Given the description of an element on the screen output the (x, y) to click on. 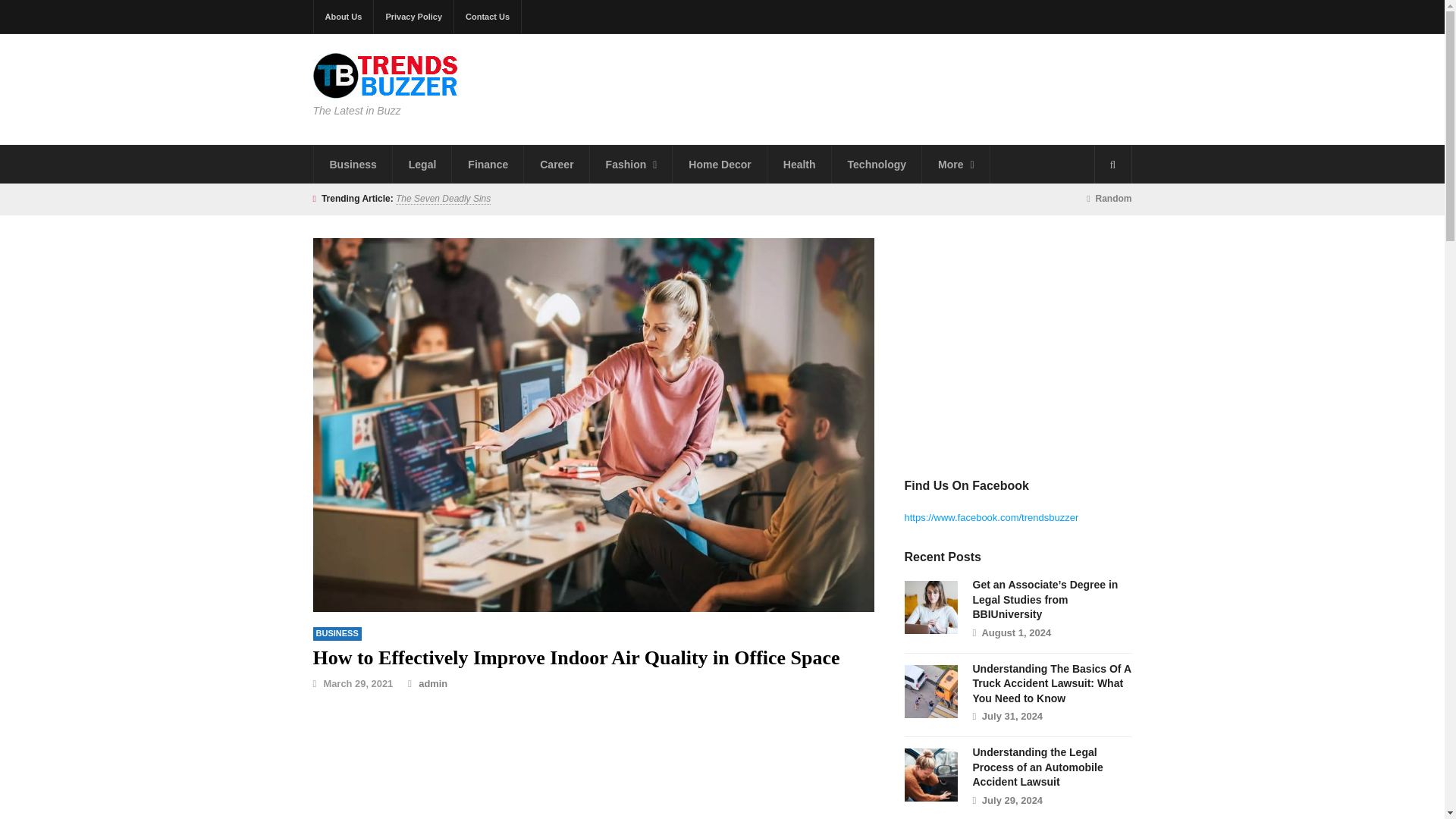
Fashion (630, 164)
Health (799, 164)
Contact Us (487, 16)
More (955, 164)
Advertisement (593, 765)
Career (556, 164)
Legal (422, 164)
Home Decor (719, 164)
Advertisement (916, 87)
Trends Buzzer (385, 90)
Privacy Policy (414, 16)
Search (1112, 164)
Business (353, 164)
Business (337, 633)
Technology (877, 164)
